Given the description of an element on the screen output the (x, y) to click on. 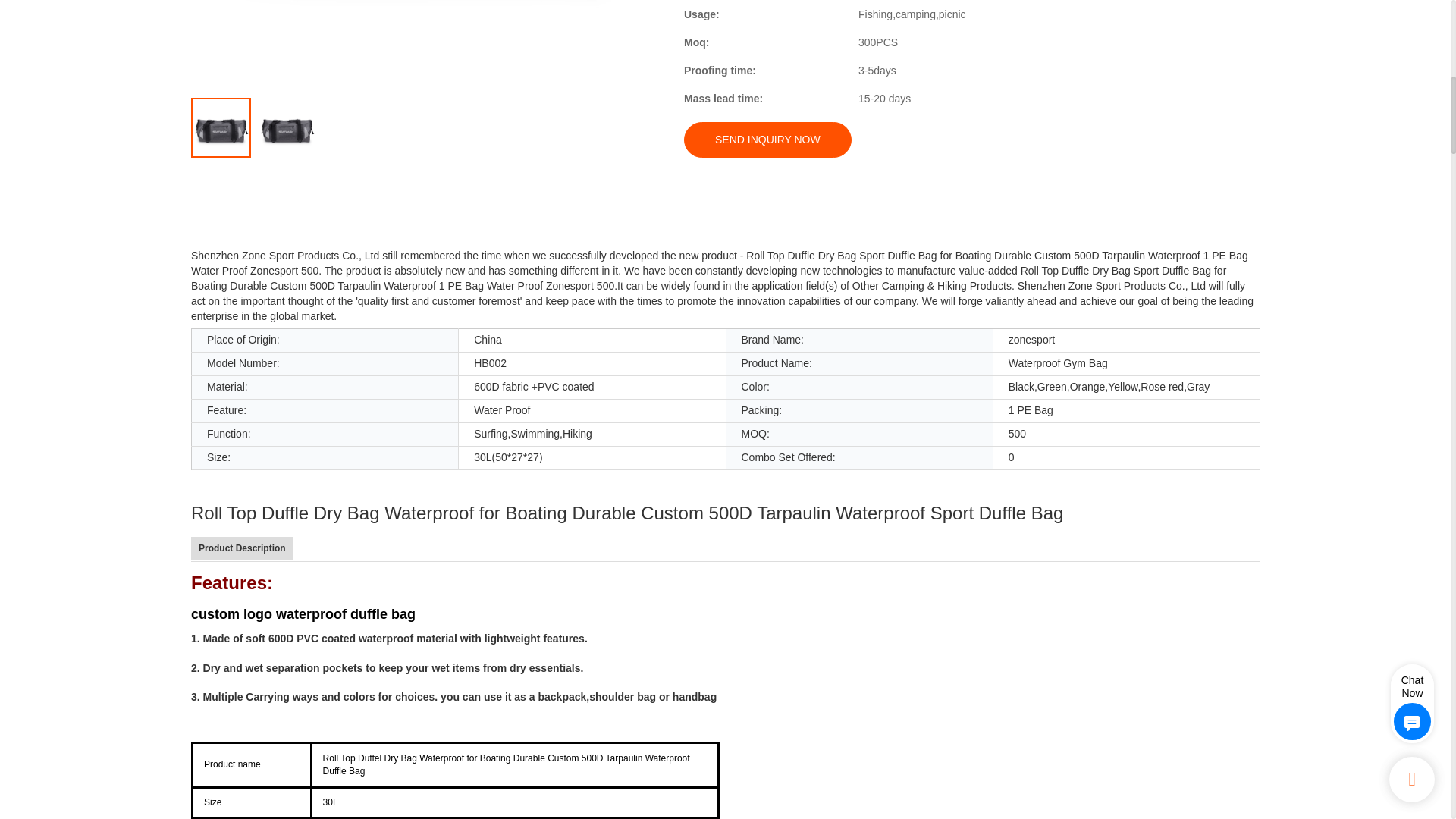
SEND INQUIRY NOW (767, 139)
